Given the description of an element on the screen output the (x, y) to click on. 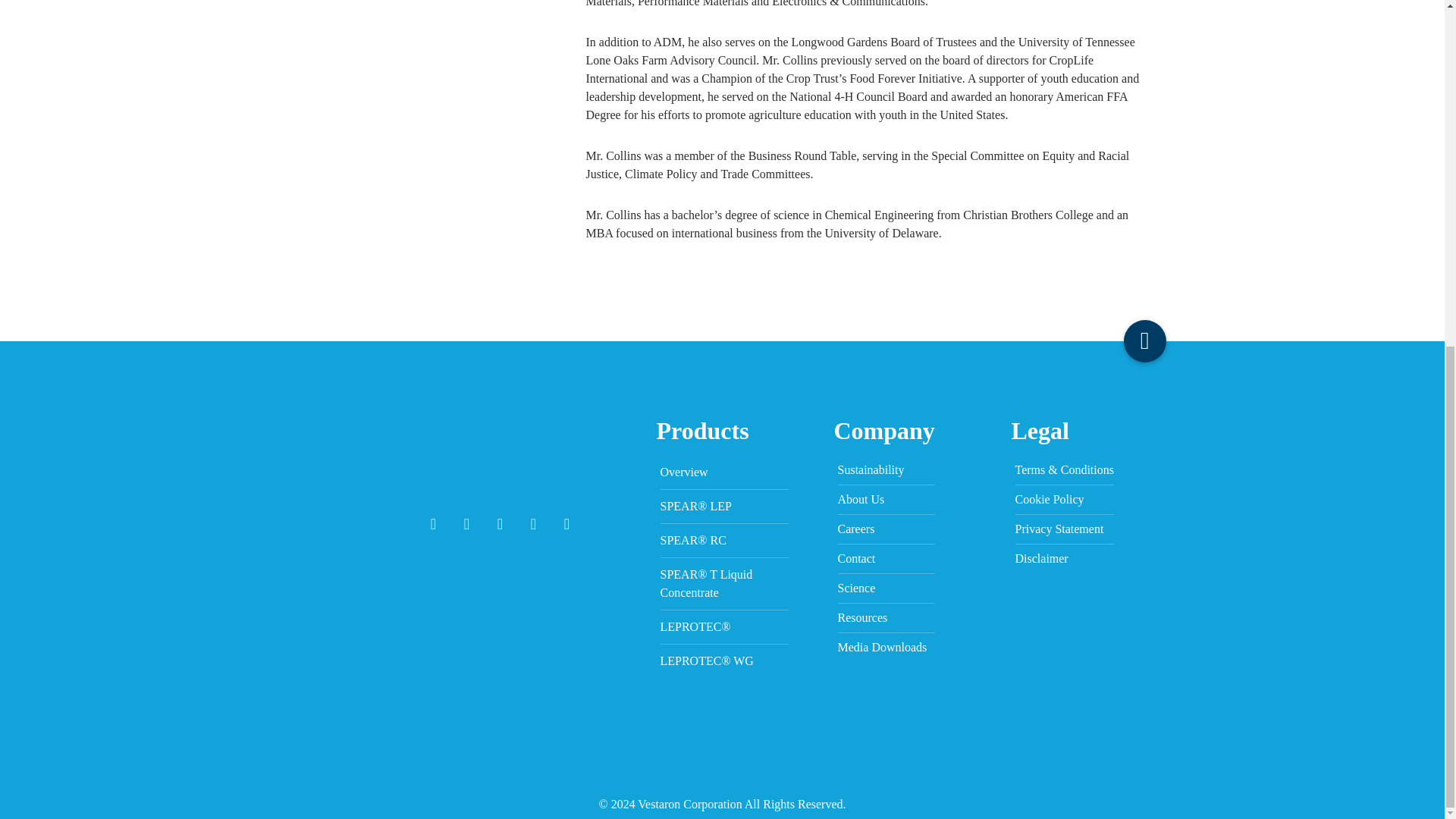
instagram (566, 523)
Youtube (499, 523)
twitter (466, 523)
linkedIn (533, 523)
facebook (433, 523)
